Given the description of an element on the screen output the (x, y) to click on. 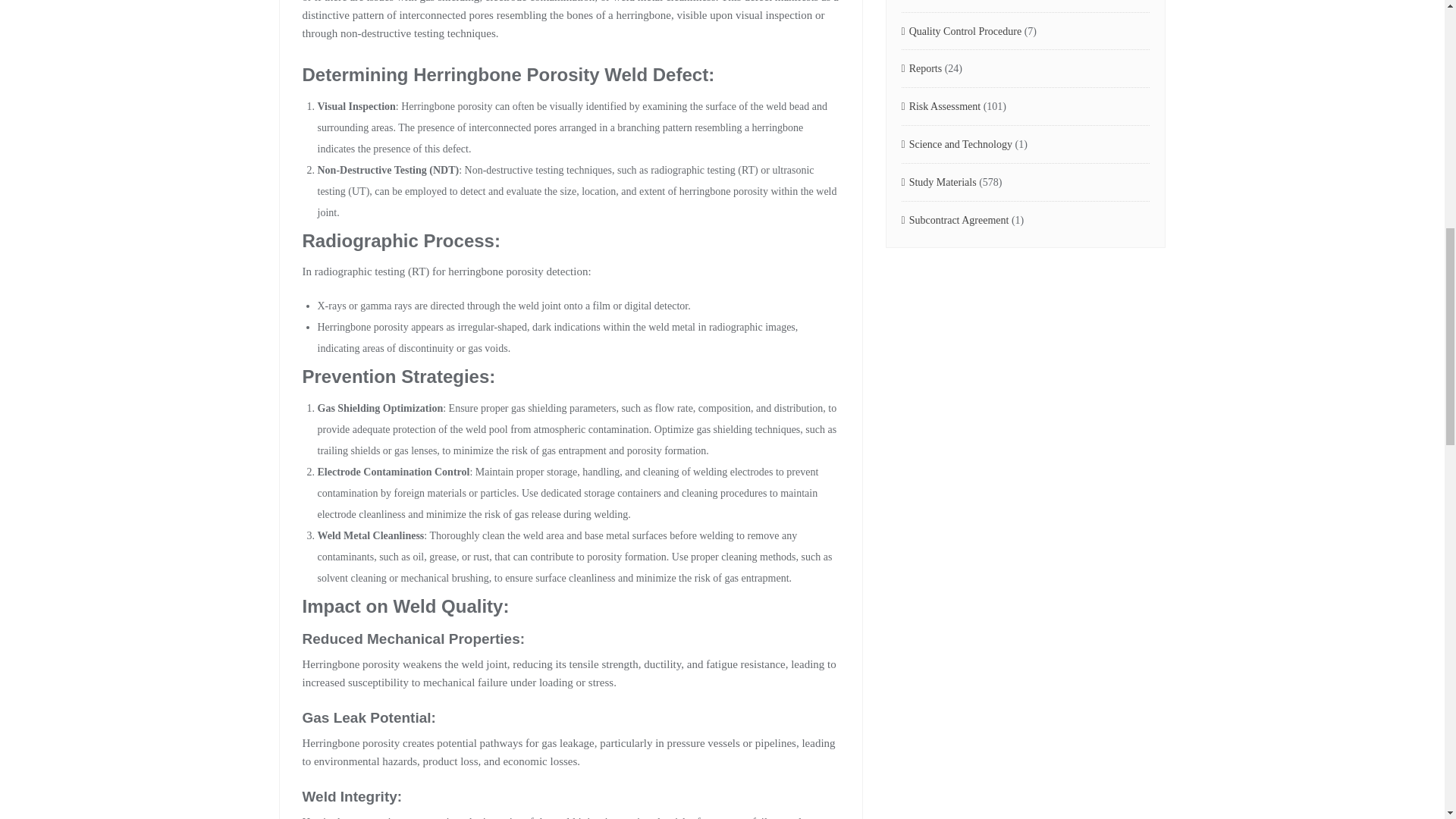
Quality Control Procedure (961, 32)
Study Materials (938, 182)
Risk Assessment (940, 106)
Miscellaneous (935, 2)
Subcontract Agreement (955, 220)
Science and Technology (956, 145)
Reports (921, 69)
